Given the description of an element on the screen output the (x, y) to click on. 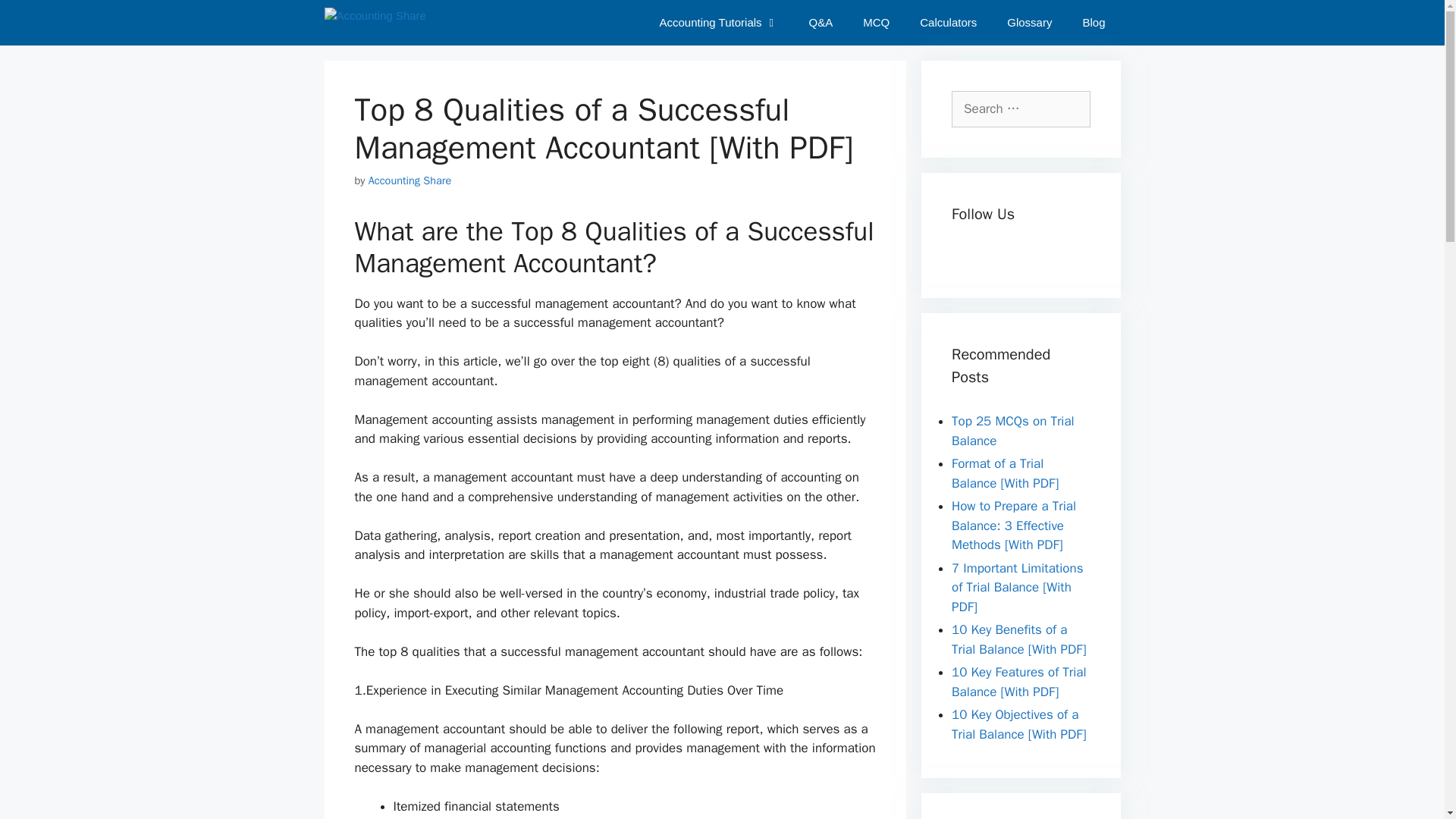
MCQ (875, 22)
Calculators (947, 22)
Accounting Share (378, 22)
Top 25 MCQs on Trial Balance (1013, 430)
Blog (1093, 22)
Accounting Tutorials (718, 22)
View all posts by Accounting Share (409, 180)
Accounting Share (409, 180)
Search for: (1021, 108)
Accounting Share (375, 22)
Glossary (1029, 22)
Search (35, 18)
